Given the description of an element on the screen output the (x, y) to click on. 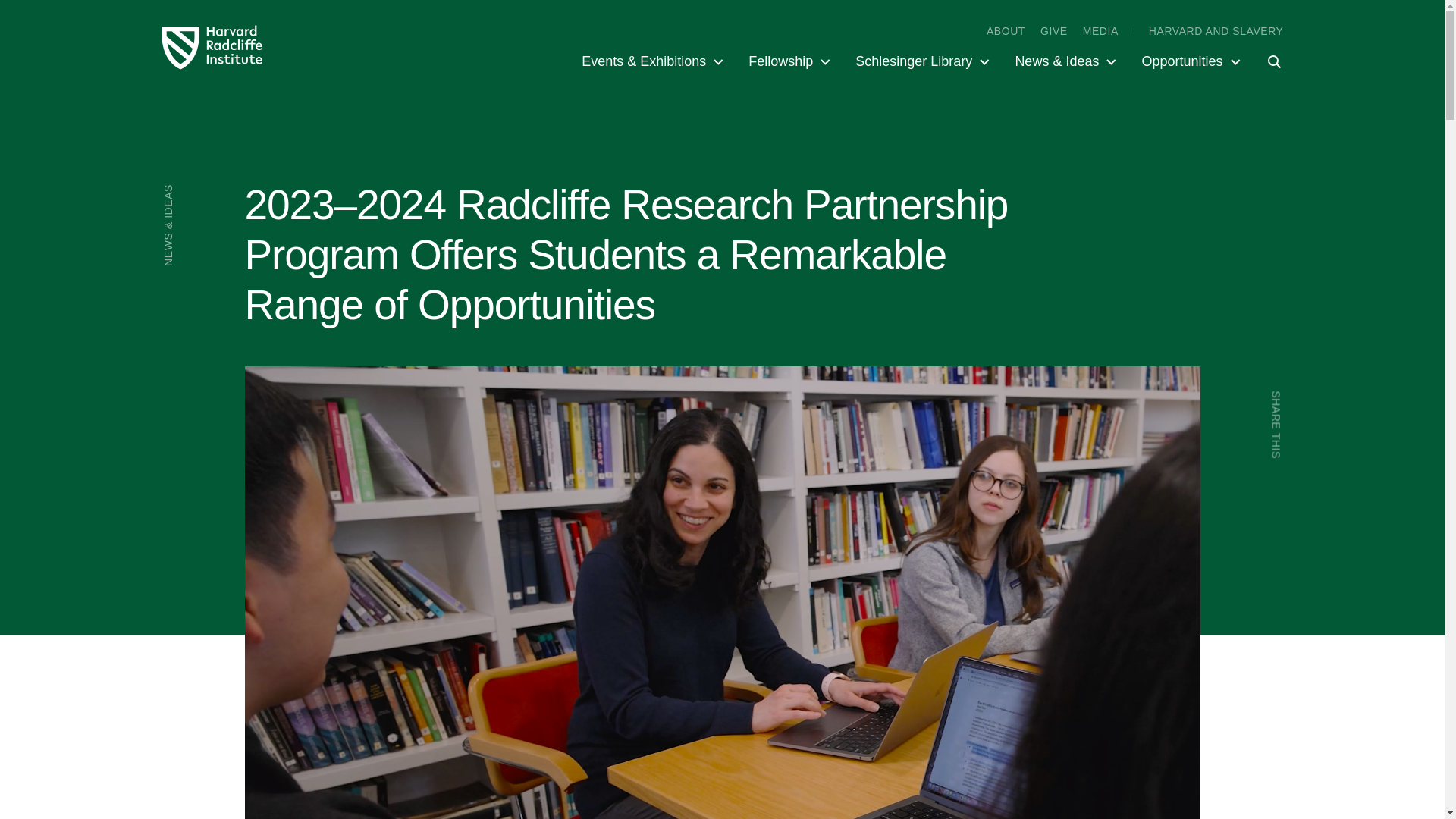
Go to homepage (212, 47)
Fellowship (791, 61)
MEDIA (1100, 30)
Main Navigation (921, 61)
Toggle search (1262, 61)
HARVARD AND SLAVERY (1216, 30)
Top Navigation (1135, 30)
ABOUT (1006, 30)
GIVE (1054, 30)
Opportunities (1192, 61)
Schlesinger Library (924, 61)
